Given the description of an element on the screen output the (x, y) to click on. 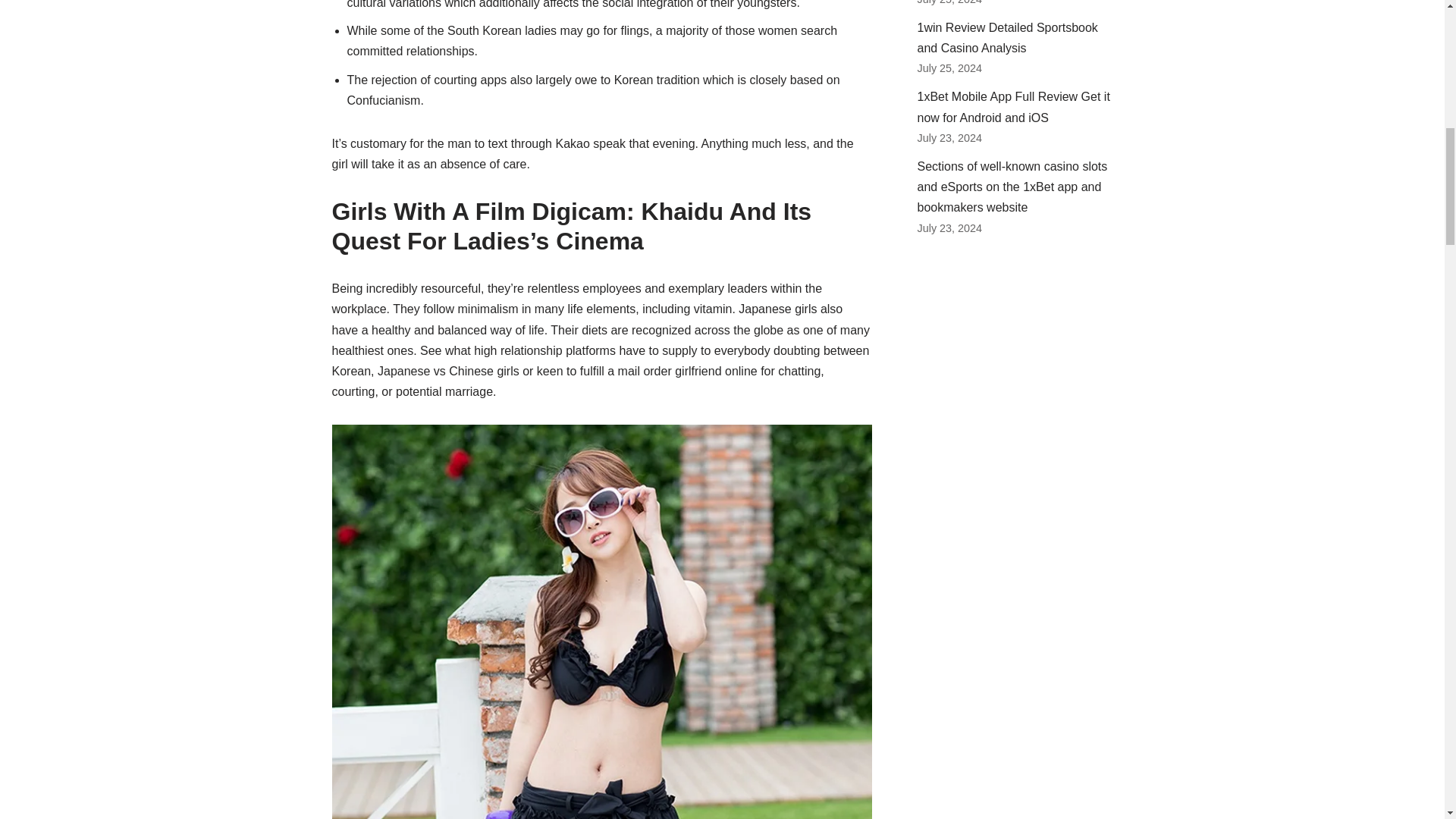
1xBet Mobile App Full Review Get it now for Android and iOS (1013, 106)
1win Review Detailed Sportsbook and Casino Analysis (1007, 37)
